Given the description of an element on the screen output the (x, y) to click on. 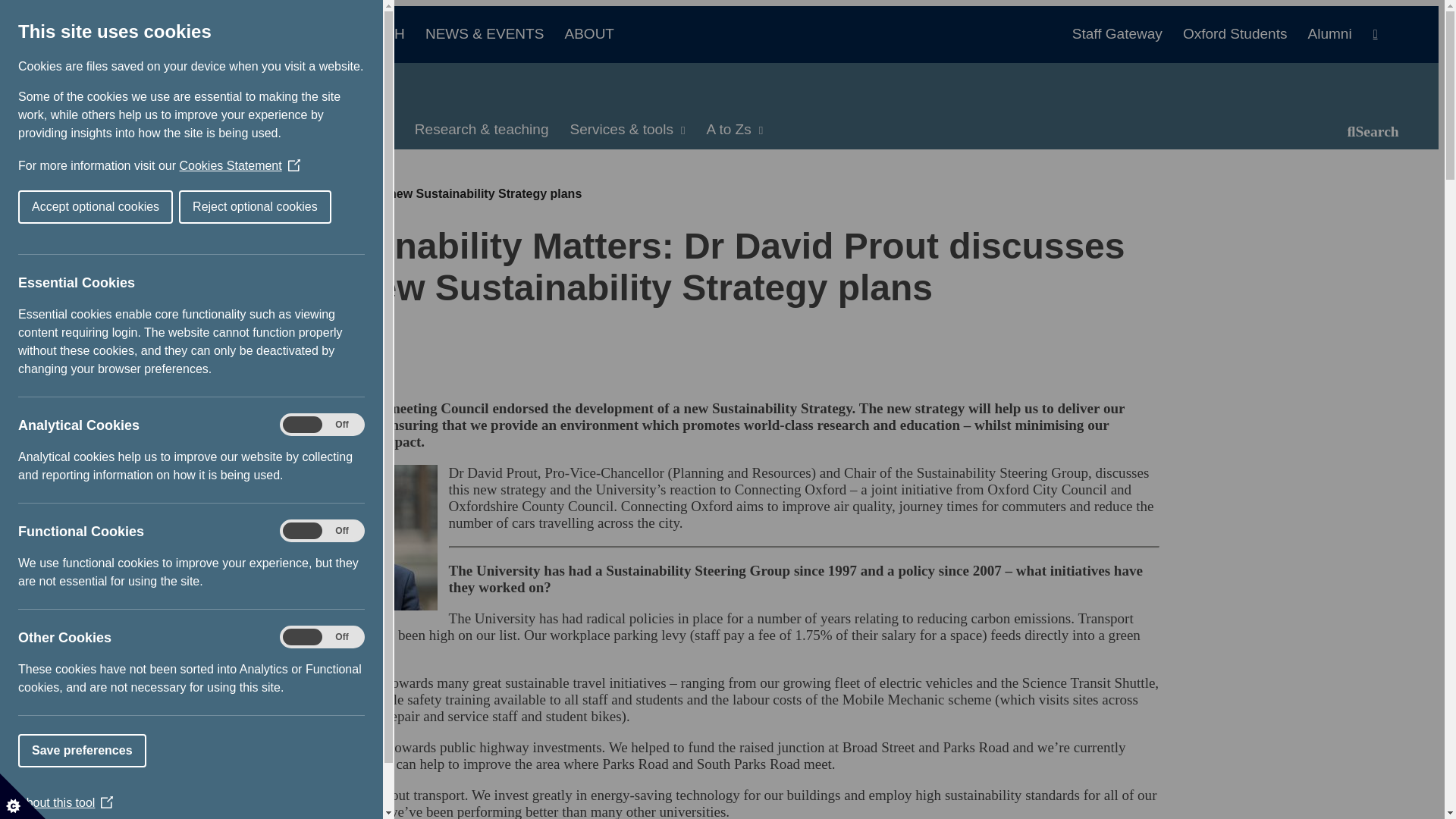
Staff Gateway (156, 93)
ABOUT (589, 33)
Oxford Students (1241, 33)
Alumni (1329, 33)
Enter the terms you wish to search for (1277, 131)
Accept optional cookies (95, 206)
Reject optional cookies (255, 206)
ABOUT (589, 33)
ADMISSIONS (266, 33)
RESEARCH (371, 33)
David prout (360, 537)
RESEARCH (371, 33)
ADMISSIONS (266, 33)
Staff Gateway (1123, 33)
